Given the description of an element on the screen output the (x, y) to click on. 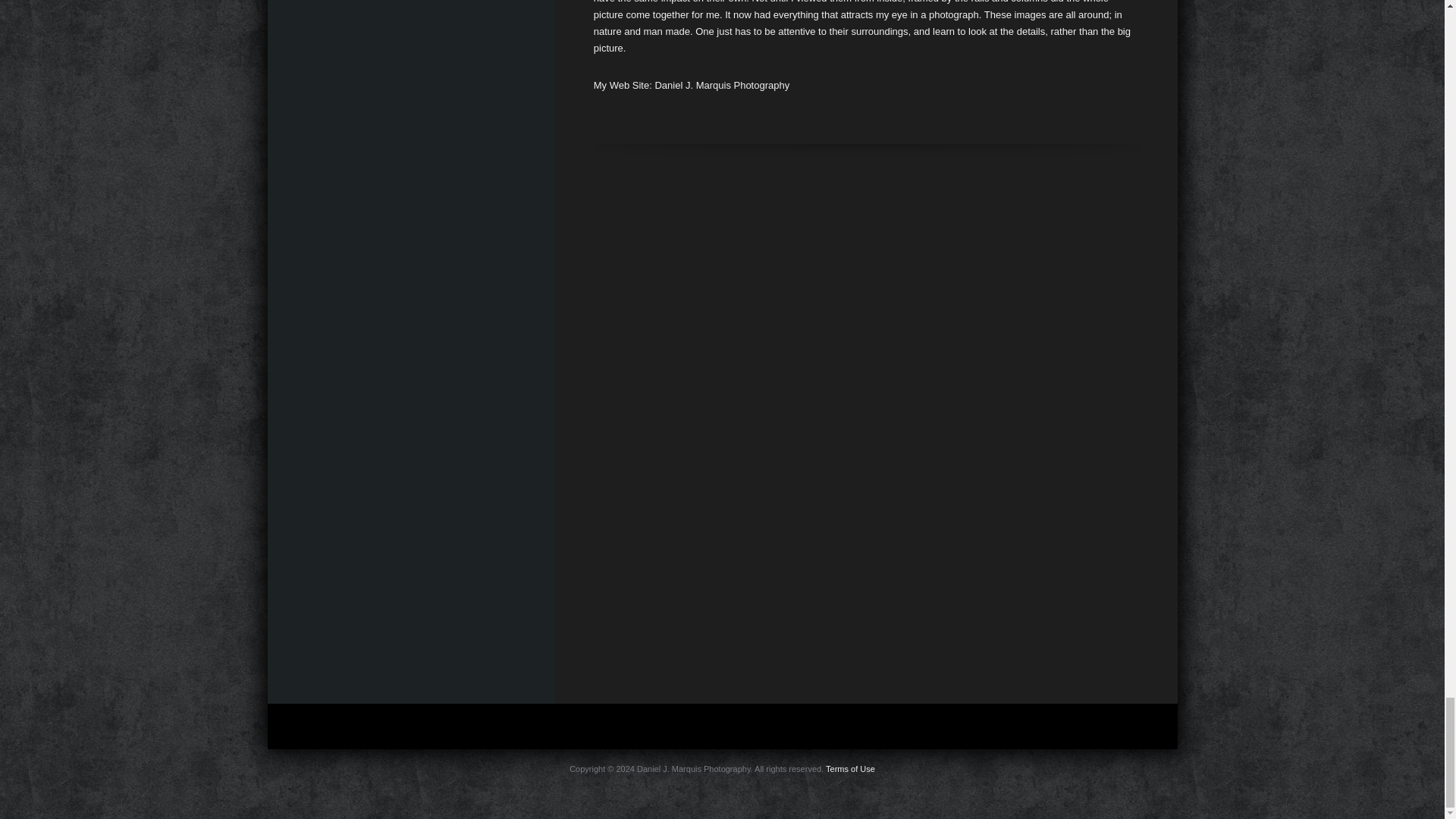
Daniel J. Marquis Photography (721, 84)
